Given the description of an element on the screen output the (x, y) to click on. 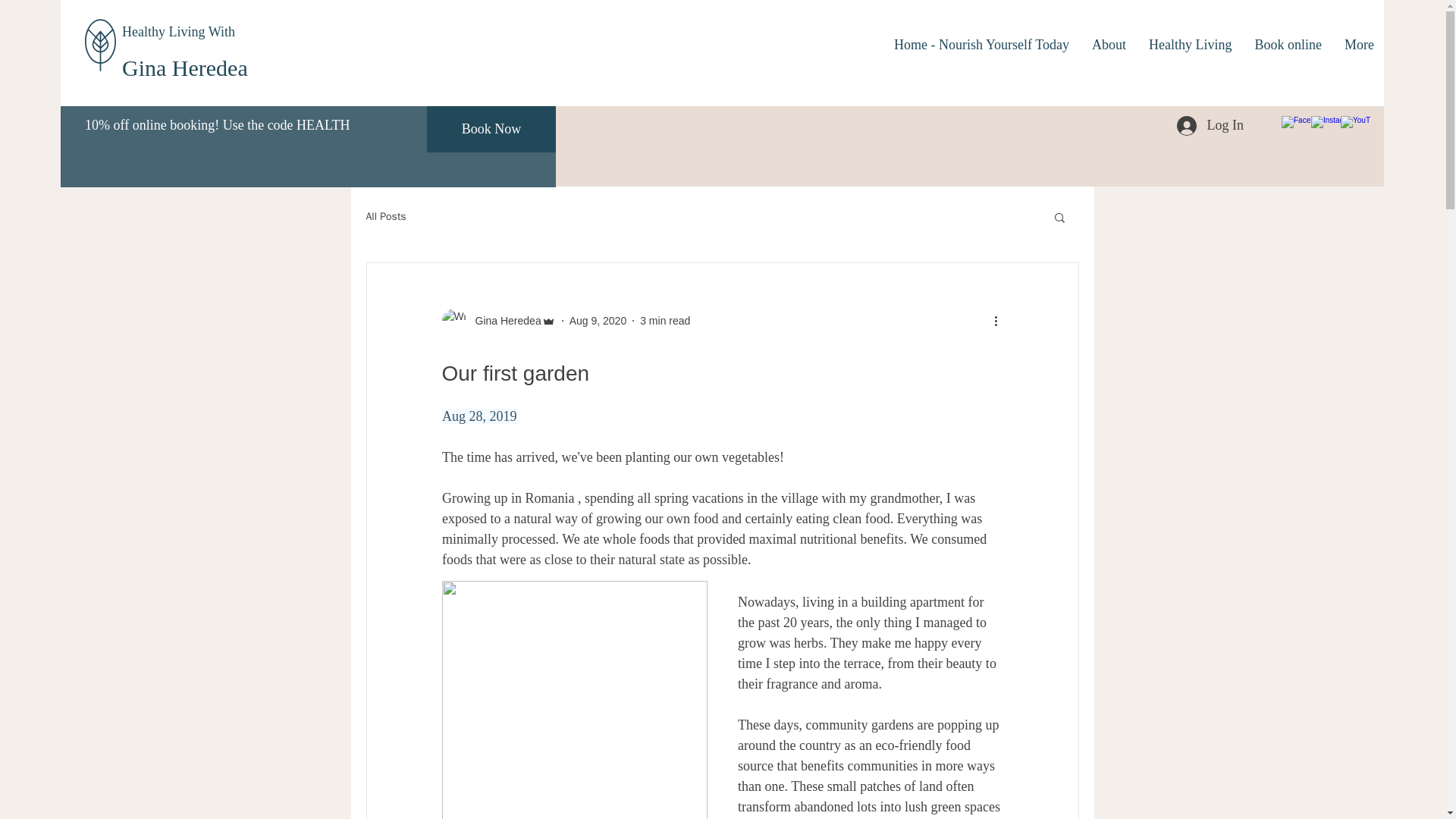
Healthy Living (1190, 44)
3 min read (665, 319)
All Posts (385, 216)
Aug 9, 2020 (598, 319)
Log In (1210, 124)
Home - Nourish Yourself Today (981, 44)
Book Now (491, 129)
Gina Heredea (497, 320)
Book online (1288, 44)
About (1108, 44)
